Given the description of an element on the screen output the (x, y) to click on. 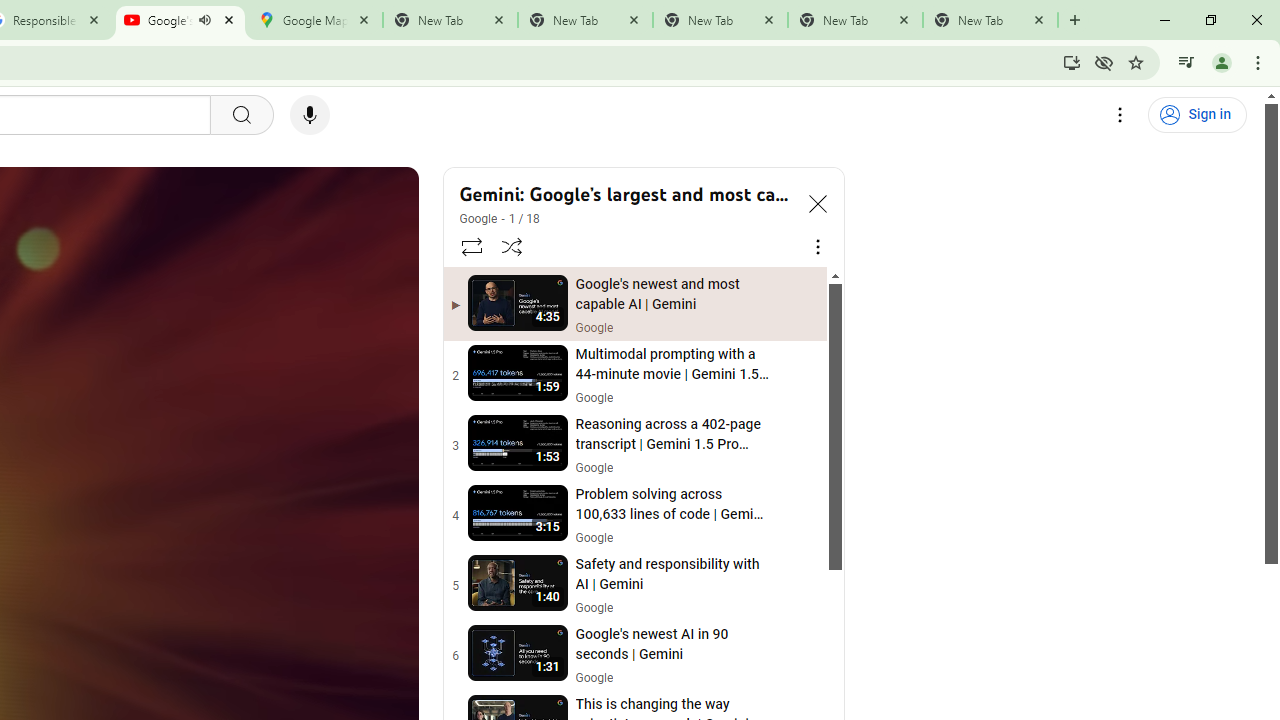
Install YouTube (1071, 62)
Shuffle playlist (511, 246)
New Tab (990, 20)
